Given the description of an element on the screen output the (x, y) to click on. 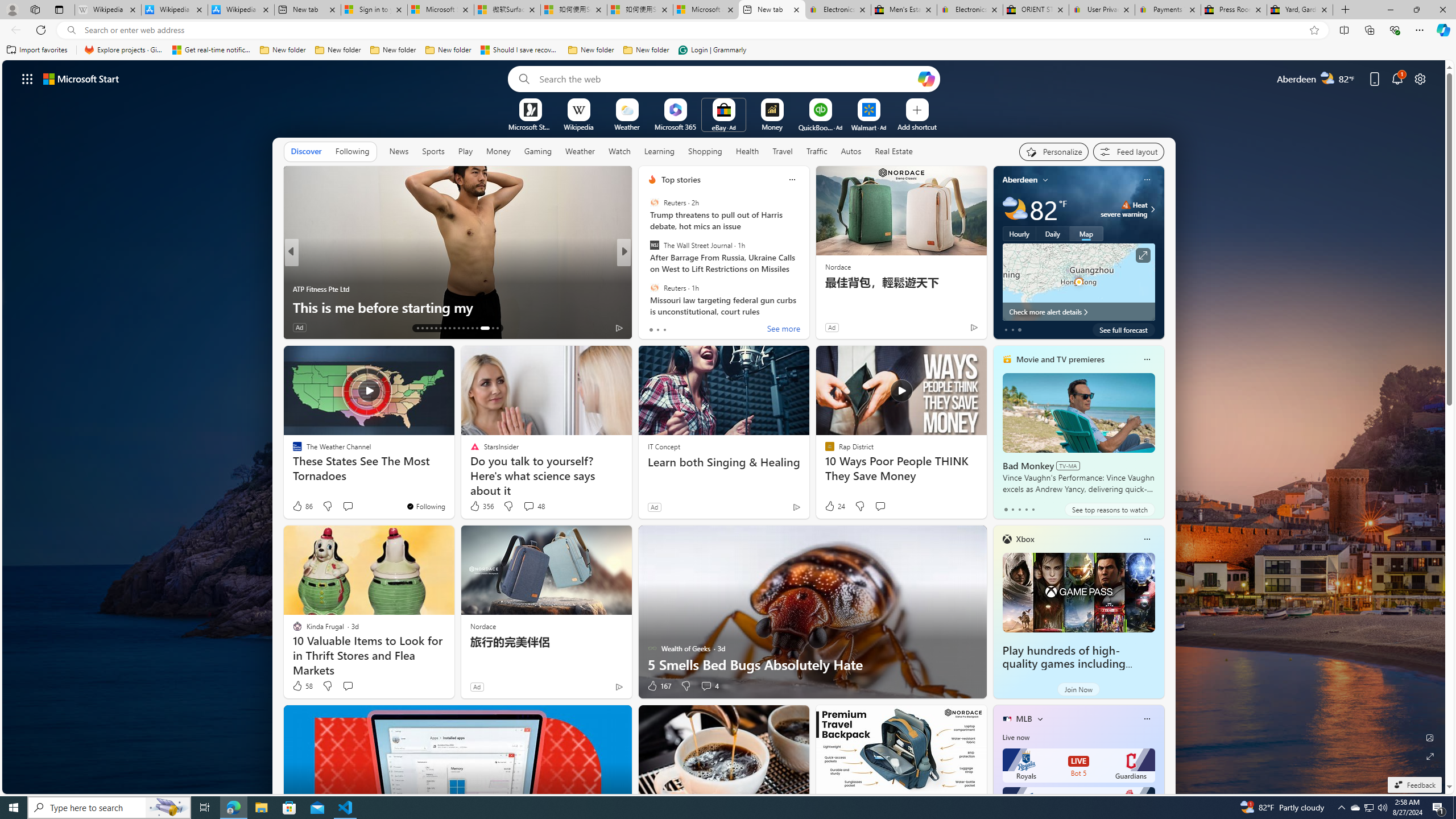
Microsoft start (81, 78)
More interests (1039, 718)
58 Like (301, 685)
AutomationID: tab-19 (444, 328)
